Given the description of an element on the screen output the (x, y) to click on. 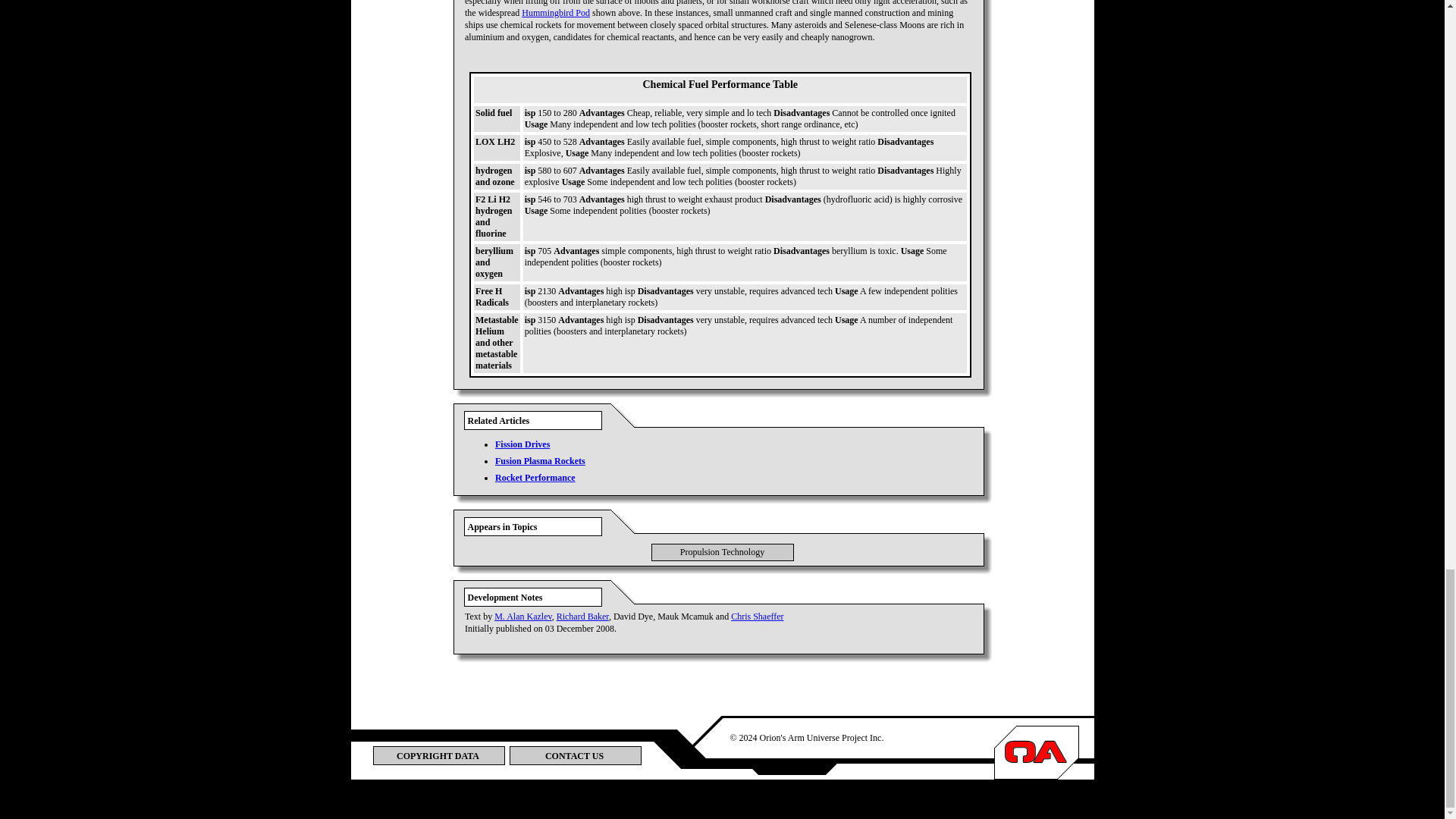
Hummingbird Pod (555, 12)
Rocket Performance (535, 477)
Fusion Plasma Rockets (540, 460)
Fission Drives (522, 443)
Propulsion Technology (721, 552)
M. Alan Kazlev (523, 615)
